Given the description of an element on the screen output the (x, y) to click on. 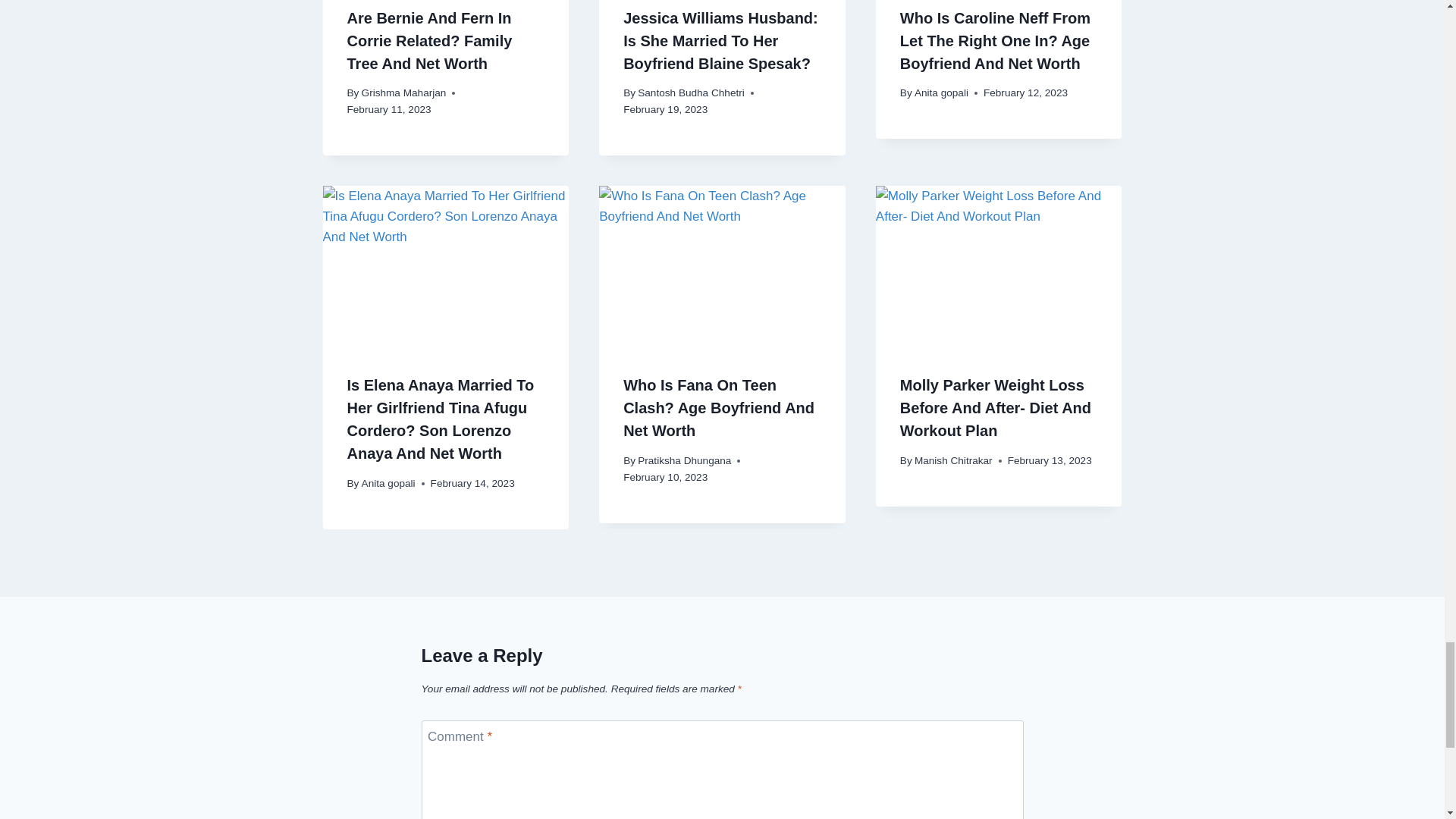
Grishma Maharjan (403, 92)
Santosh Budha Chhetri (690, 92)
Who Is Fana On Teen Clash? Age Boyfriend And Net Worth (721, 267)
